Given the description of an element on the screen output the (x, y) to click on. 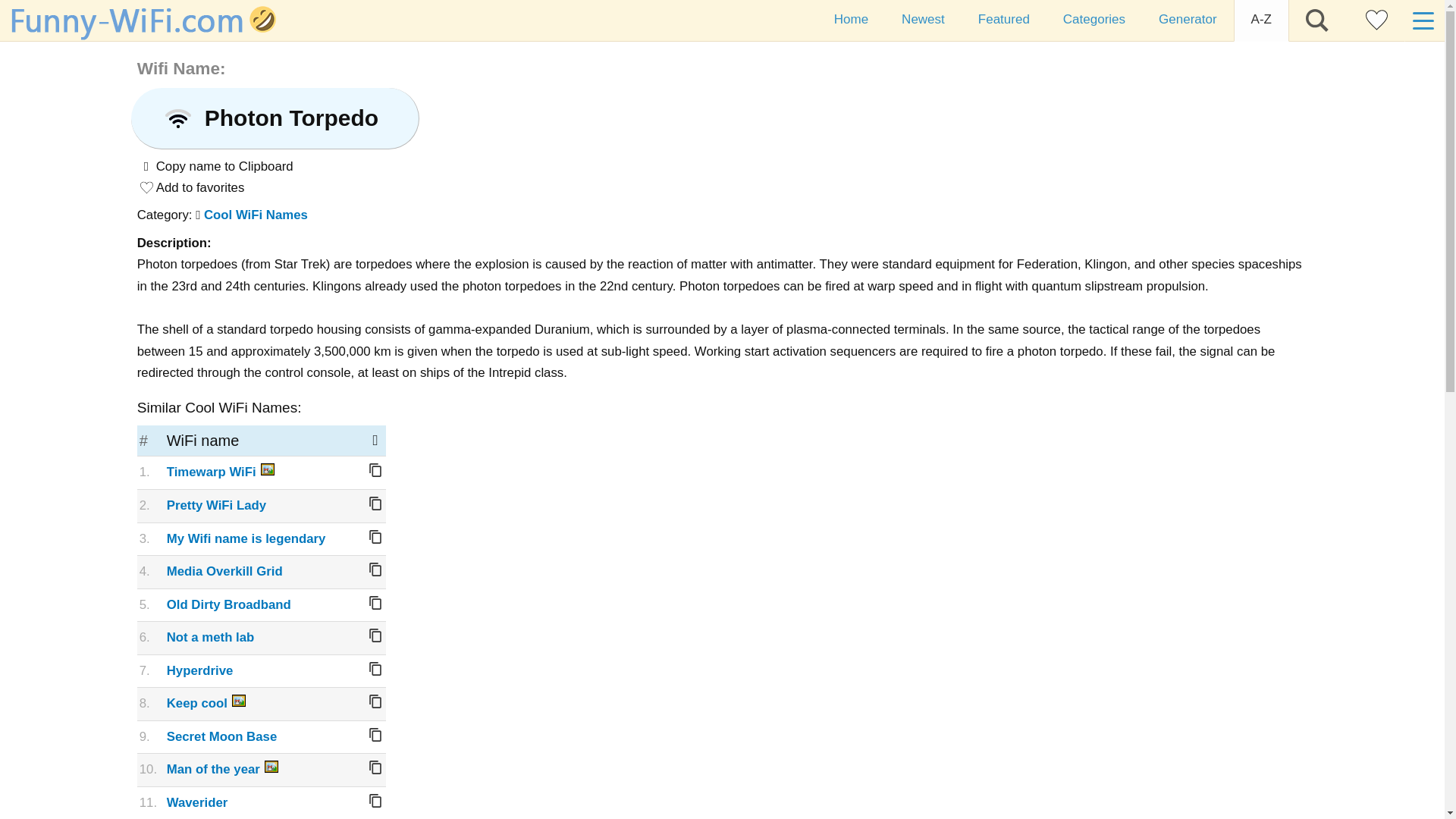
Pretty WiFi Lady (216, 504)
Wifi Symbol (177, 117)
Copy name to Clipboard (374, 800)
Copy name to Clipboard (374, 569)
Not a meth lab (210, 636)
Image or Video on WiFi Name Page (271, 766)
Image or Video on WiFi Name Page (267, 468)
Copy name to Clipboard (374, 668)
Generator (1187, 20)
Newest (922, 20)
Timewarp WiFi (211, 472)
Old Dirty Broadband (229, 604)
Hyperdrive (199, 670)
Featured (1003, 20)
My Wifi name is legendary (246, 538)
